Given the description of an element on the screen output the (x, y) to click on. 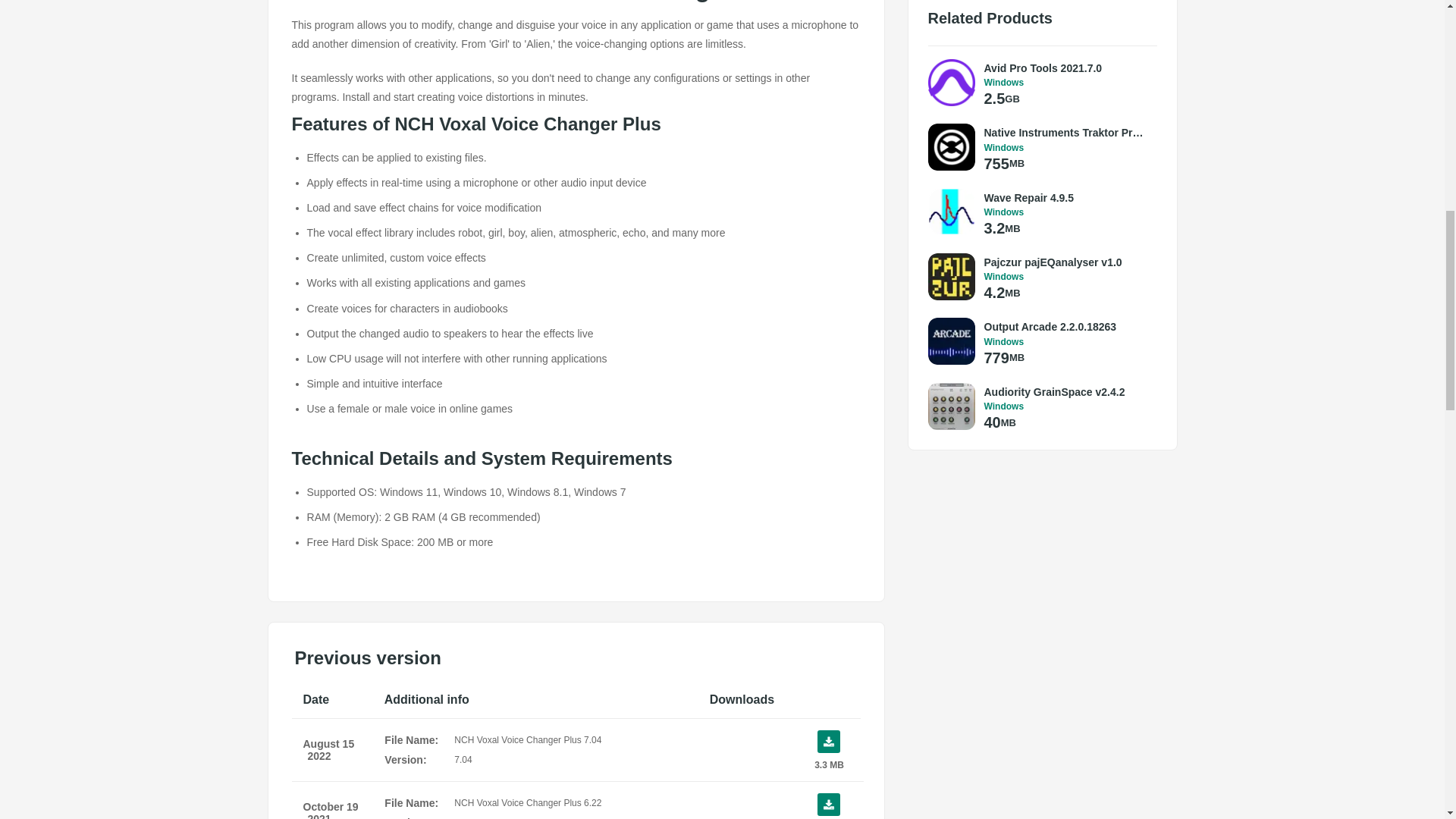
3.3 MB (828, 749)
Windows (1066, 147)
Pajczur pajEQanalyser v1.0 (1066, 262)
Windows (1066, 81)
Native Instruments Traktor Pro Plus 3.11.0 (1066, 132)
Avid Pro Tools 2021.7.0 (1066, 67)
Windows (1066, 276)
4.7 MB (828, 806)
Wave Repair 4.9.5 (1066, 197)
Windows (1066, 212)
